Given the description of an element on the screen output the (x, y) to click on. 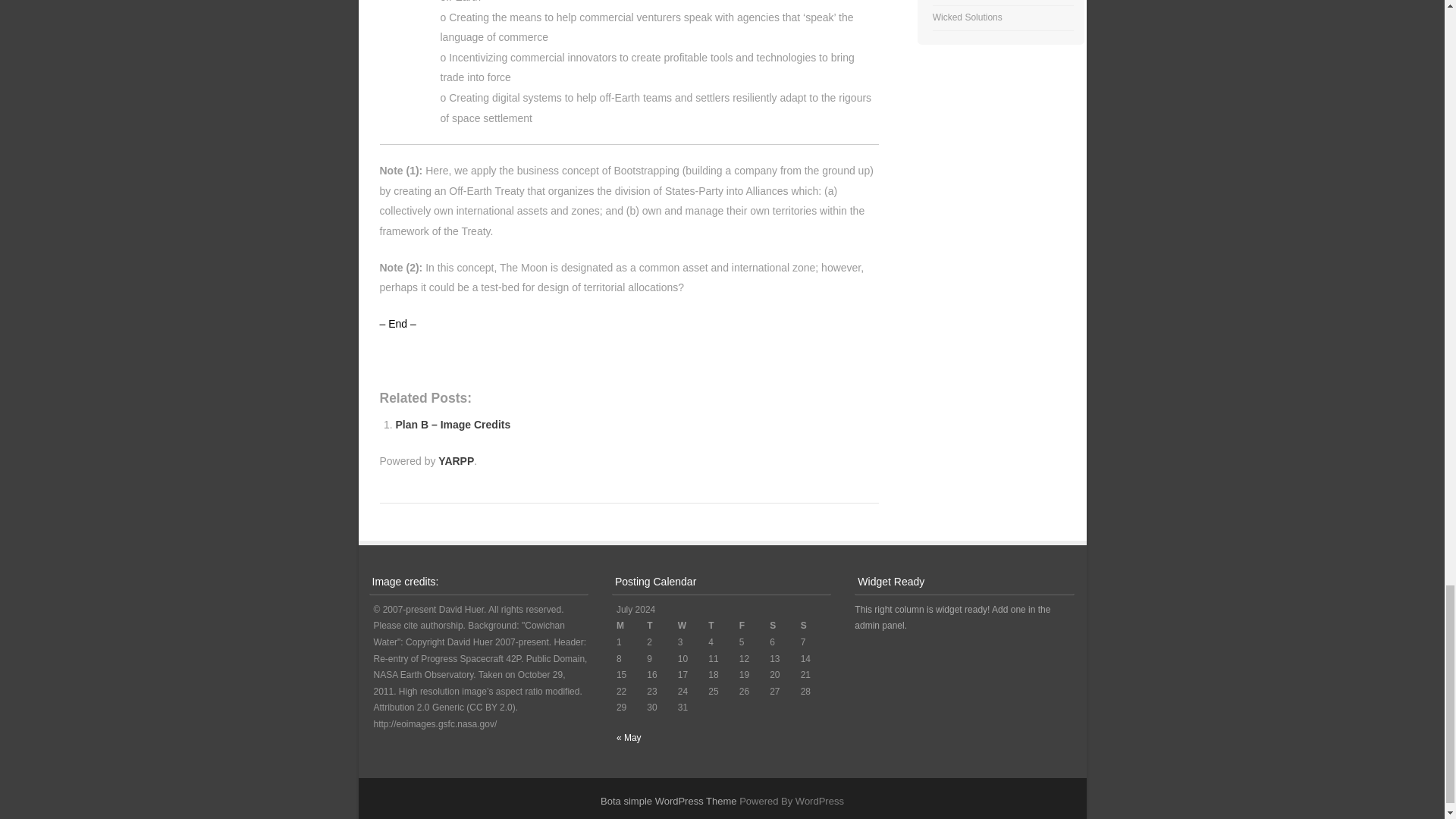
Sunday (815, 626)
Monday (630, 626)
Tuesday (661, 626)
Saturday (784, 626)
Thursday (722, 626)
YARPP (456, 460)
WordPress Related Posts (456, 460)
Wednesday (692, 626)
Friday (754, 626)
